Given the description of an element on the screen output the (x, y) to click on. 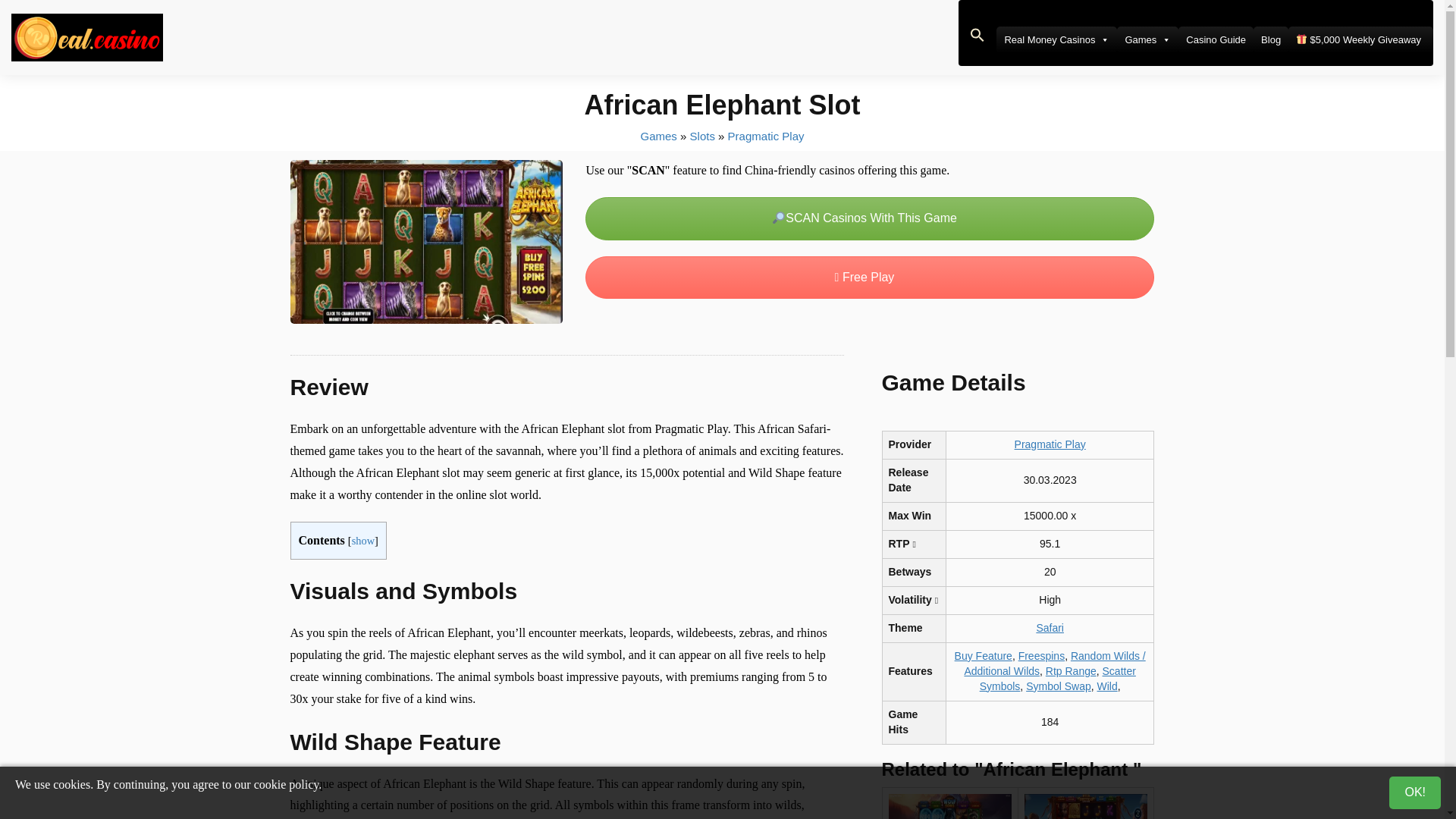
Real Money Casinos (1055, 39)
Online Casino Games (658, 135)
Online Slots (702, 135)
Games (1146, 39)
Pragmatic Play Slots (766, 135)
